Given the description of an element on the screen output the (x, y) to click on. 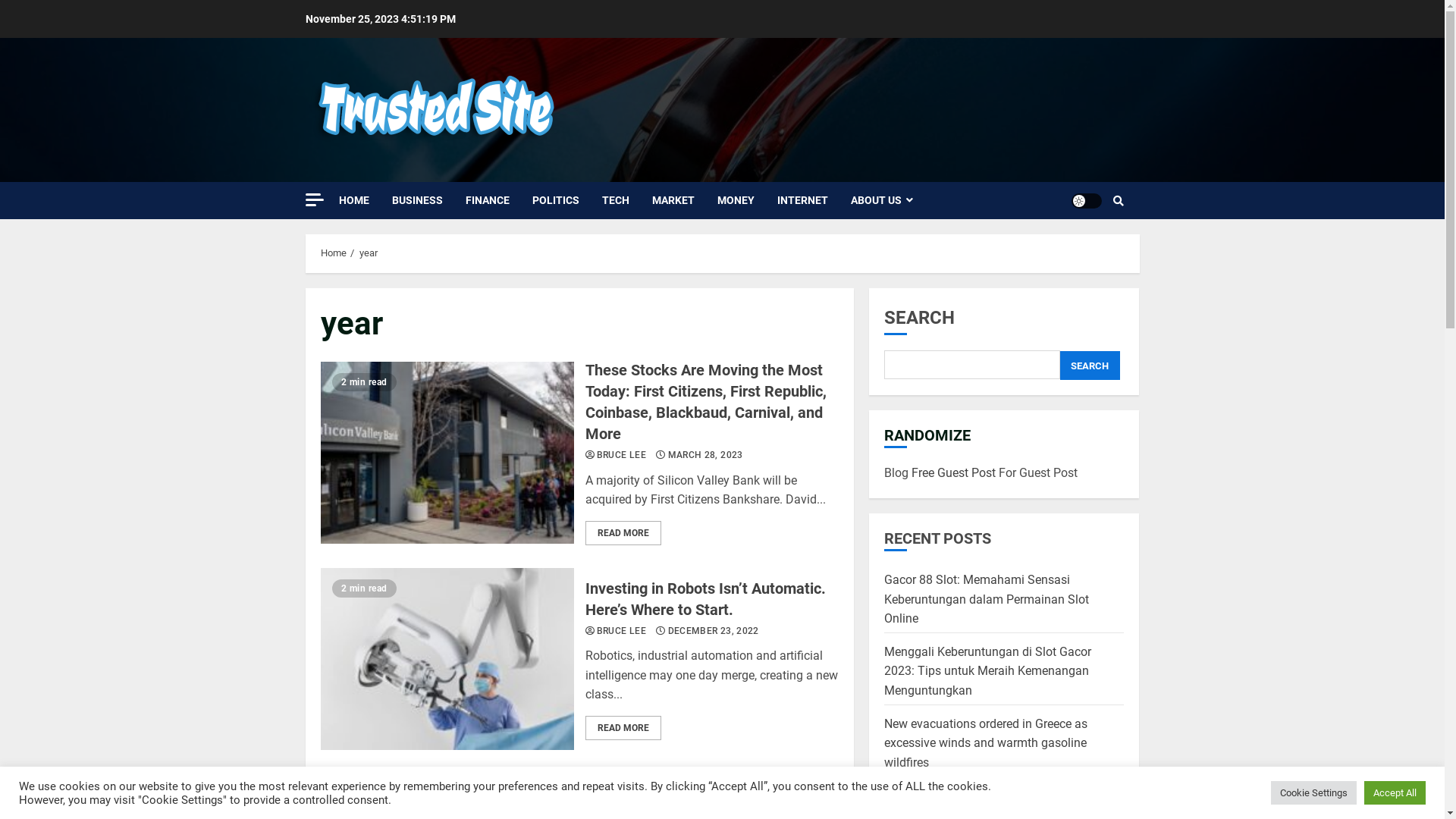
Accept All Element type: text (1394, 792)
BRUCE LEE Element type: text (621, 631)
Cookie Settings Element type: text (1313, 792)
READ MORE Element type: text (623, 727)
INTERNET Element type: text (813, 200)
MARKET Element type: text (684, 200)
HOME Element type: text (364, 200)
Home Element type: text (332, 253)
Free Guest Post Element type: text (953, 472)
MONEY Element type: text (747, 200)
POLITICS Element type: text (567, 200)
TECH Element type: text (627, 200)
FINANCE Element type: text (498, 200)
ABOUT US Element type: text (881, 200)
Light/Dark Button Element type: text (1085, 199)
Search Element type: hover (1118, 200)
BRUCE LEE Element type: text (621, 455)
READ MORE Element type: text (623, 532)
BUSINESS Element type: text (427, 200)
year Element type: text (368, 253)
SEARCH Element type: text (1090, 365)
Search Element type: text (1092, 246)
